Given the description of an element on the screen output the (x, y) to click on. 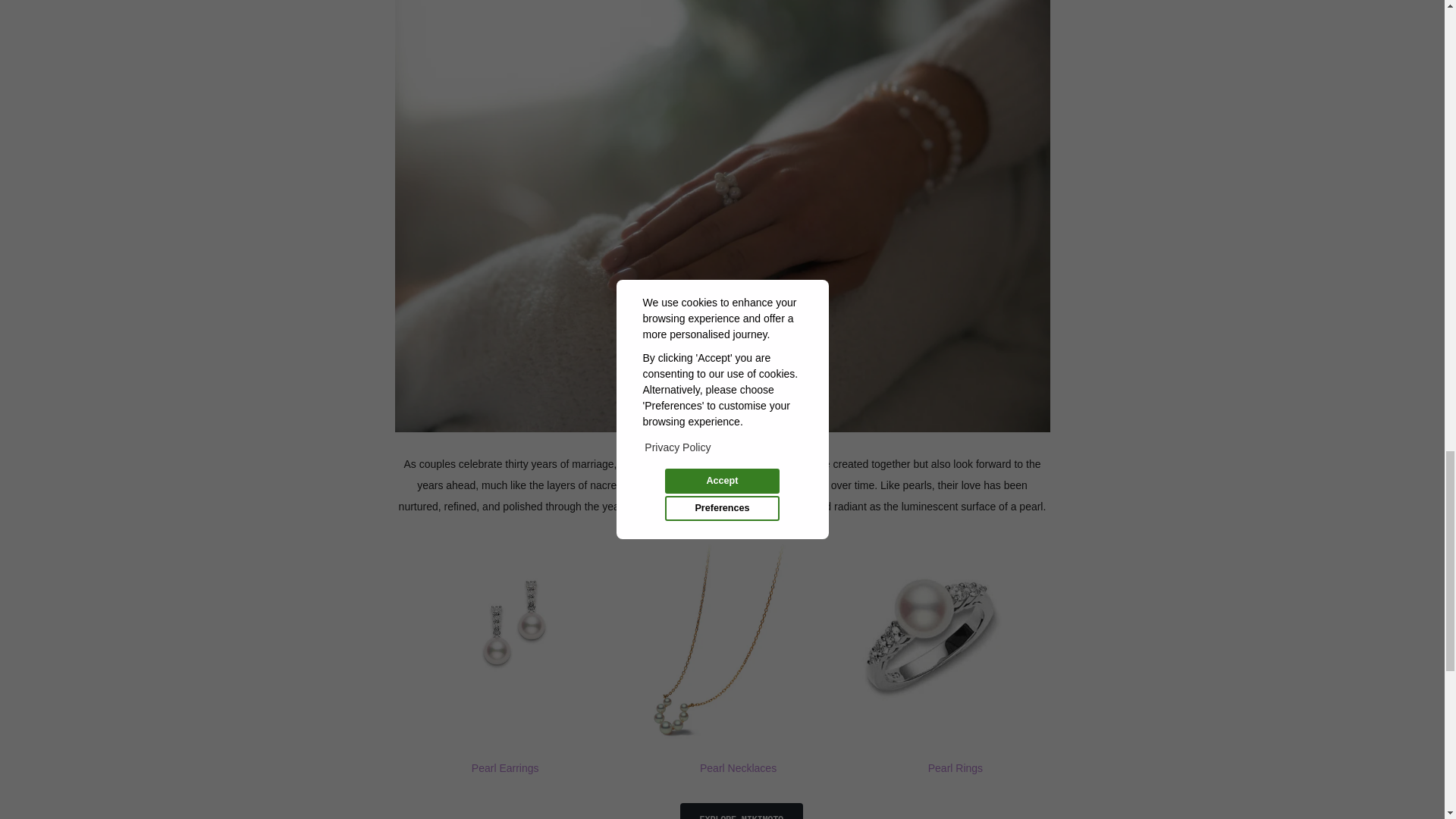
EXPLORE MIKIMOTO (741, 811)
Pearl Earrings (504, 767)
Pearl Necklaces (738, 767)
Pearl Rings (955, 767)
